Given the description of an element on the screen output the (x, y) to click on. 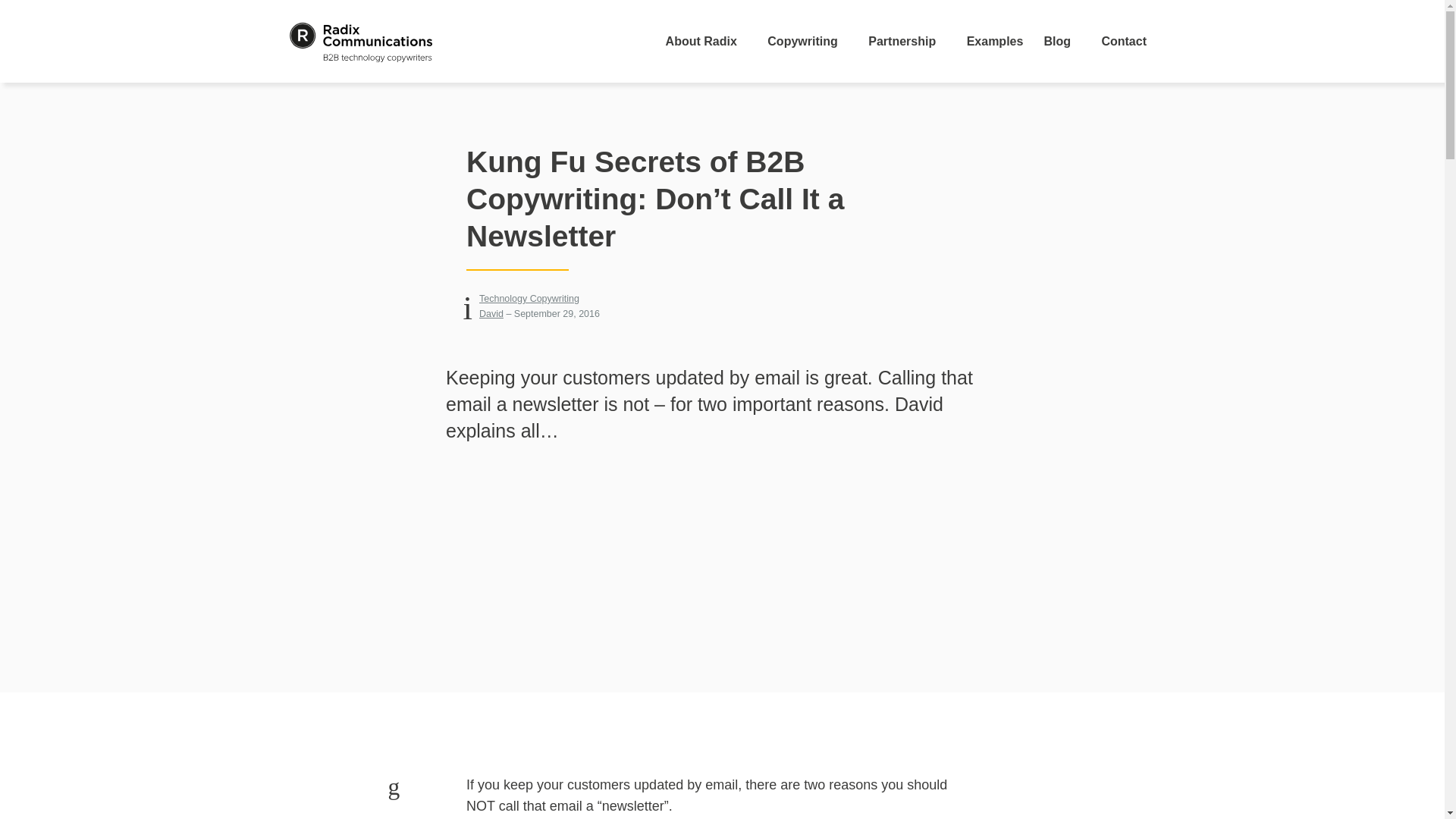
All  (529, 298)
Kung Fu Copywriting Secrets: Don't Use The Word 'Newsletter' (721, 590)
Posts by David (491, 313)
Partnership (907, 41)
Copywriting (808, 41)
Examples (994, 41)
About Radix (706, 41)
David (491, 313)
Technology Copywriting (529, 298)
